Given the description of an element on the screen output the (x, y) to click on. 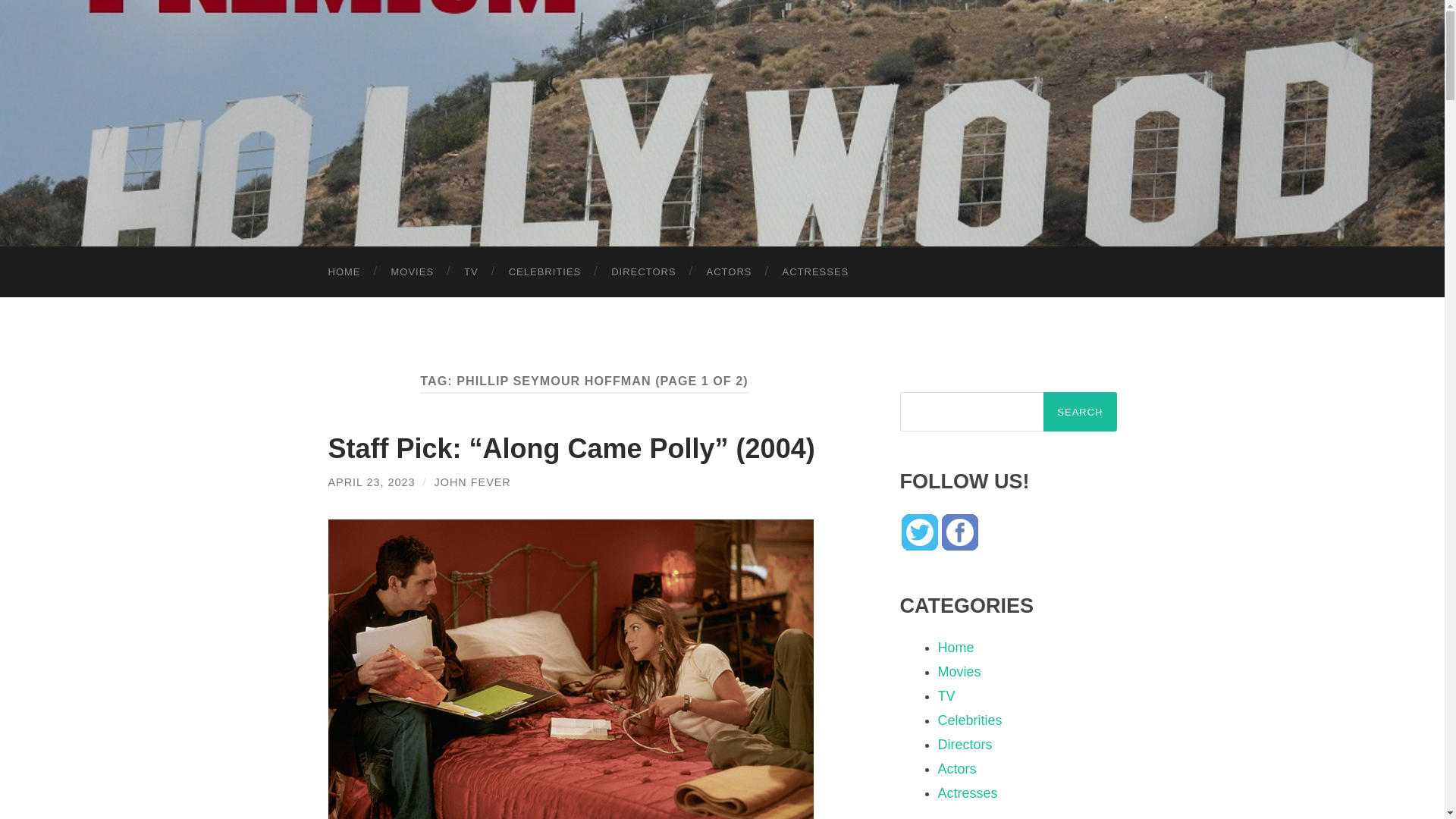
Posts by John Fever (472, 481)
CELEBRITIES (544, 271)
HOME (344, 271)
Search (1079, 411)
APRIL 23, 2023 (370, 481)
ACTRESSES (815, 271)
DIRECTORS (642, 271)
MOVIES (412, 271)
ACTORS (729, 271)
JOHN FEVER (472, 481)
